Given the description of an element on the screen output the (x, y) to click on. 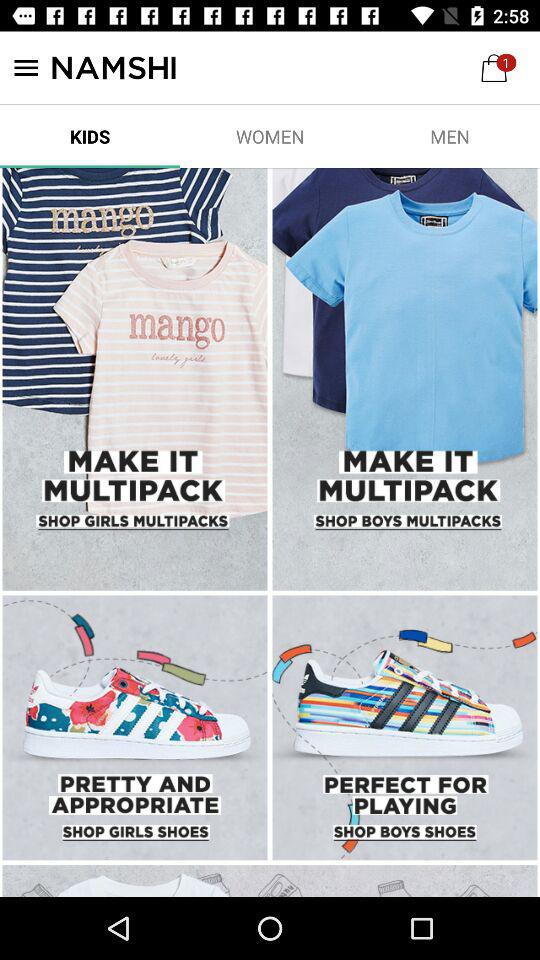
scroll until kids icon (90, 136)
